Given the description of an element on the screen output the (x, y) to click on. 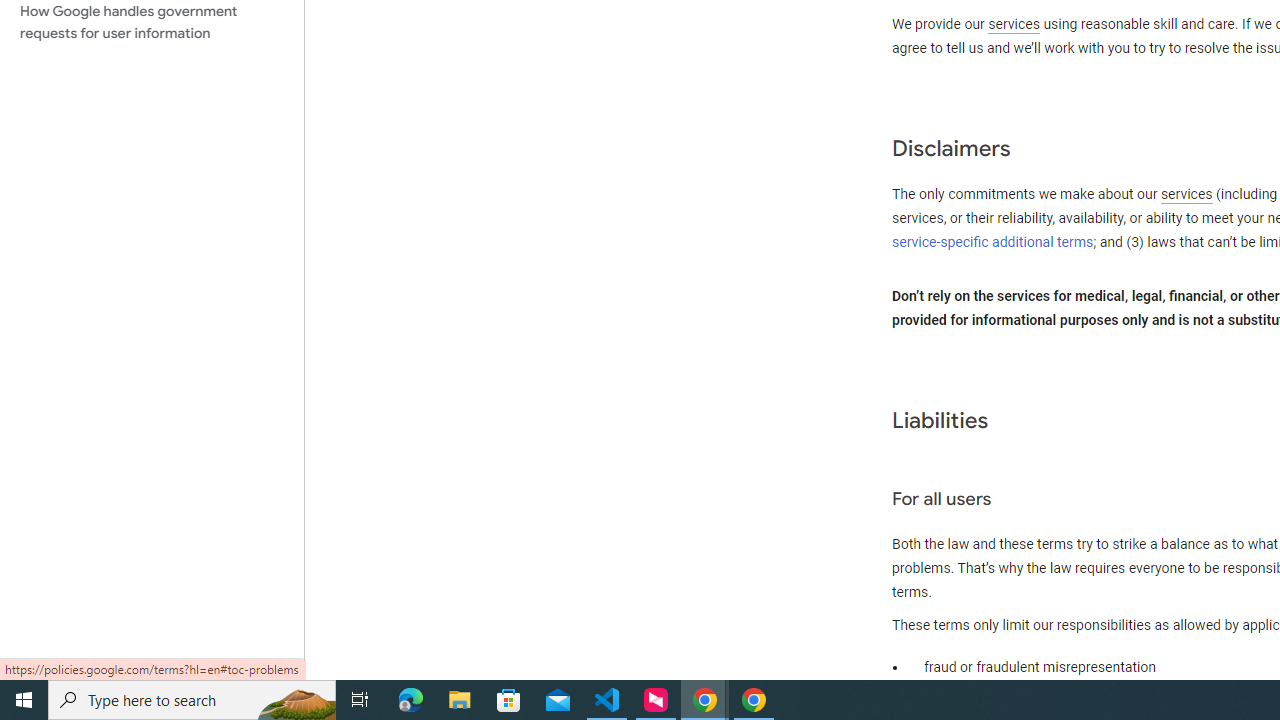
service-specific additional terms (993, 242)
services (1186, 195)
